Given the description of an element on the screen output the (x, y) to click on. 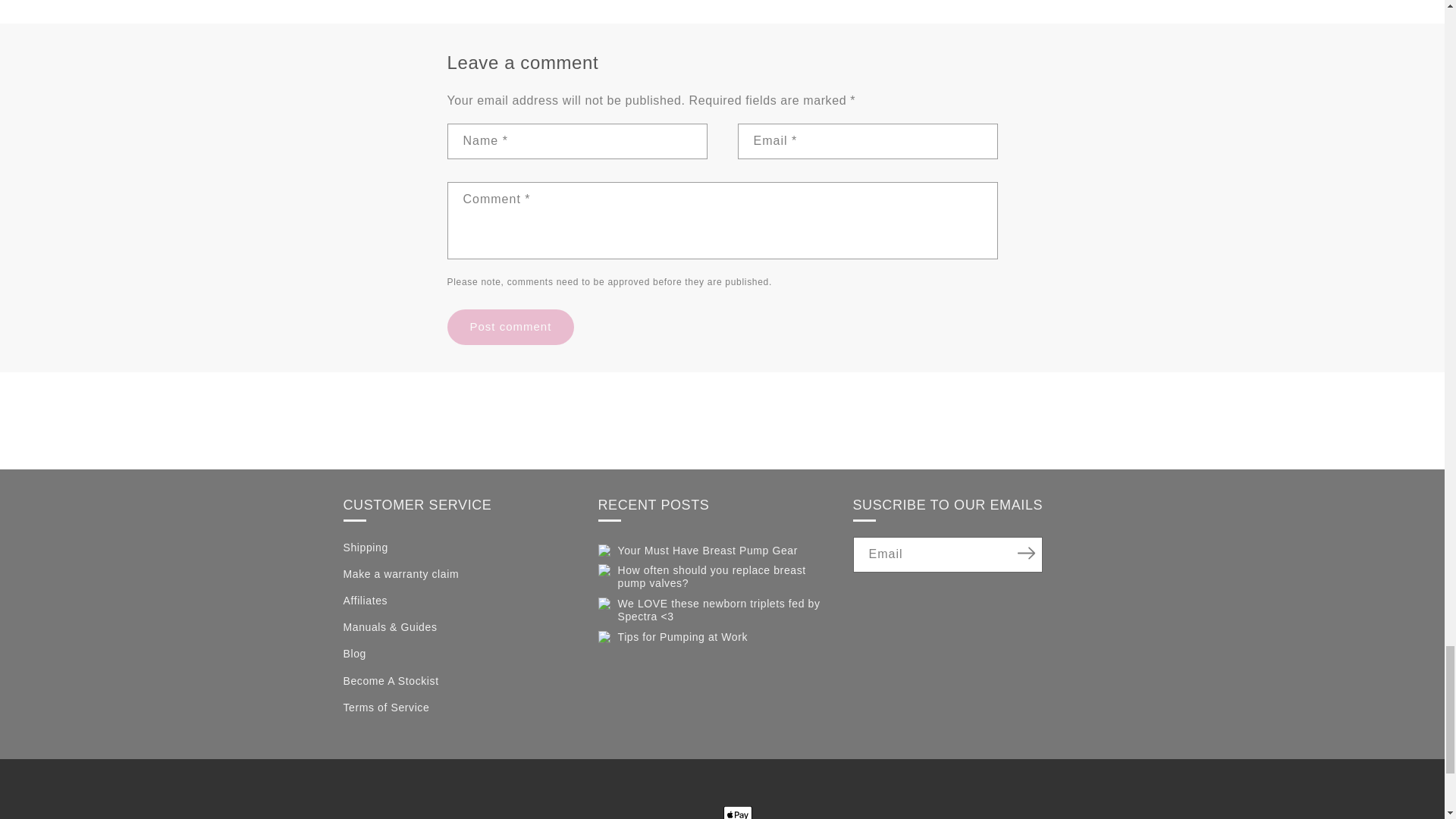
Apple Pay (737, 812)
Post comment (510, 326)
